Given the description of an element on the screen output the (x, y) to click on. 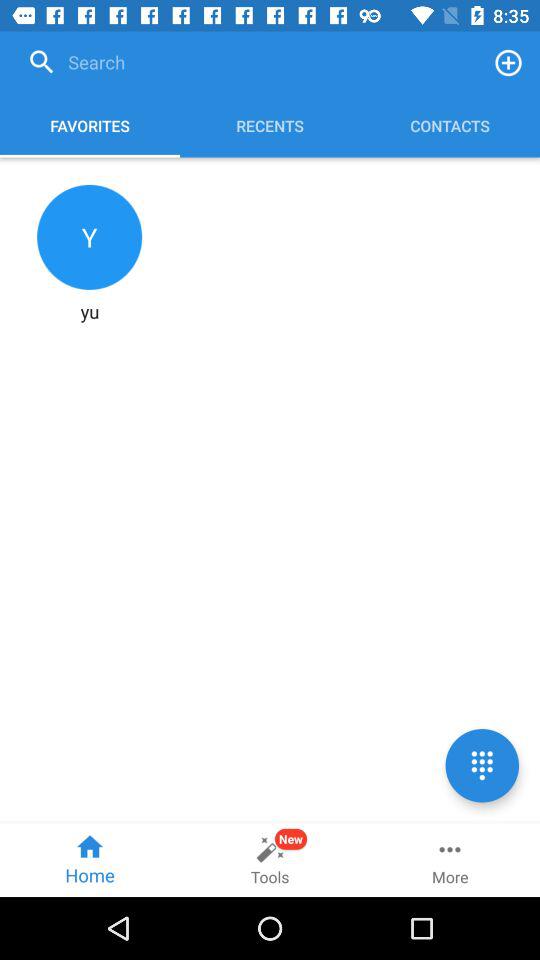
add contact (508, 62)
